Given the description of an element on the screen output the (x, y) to click on. 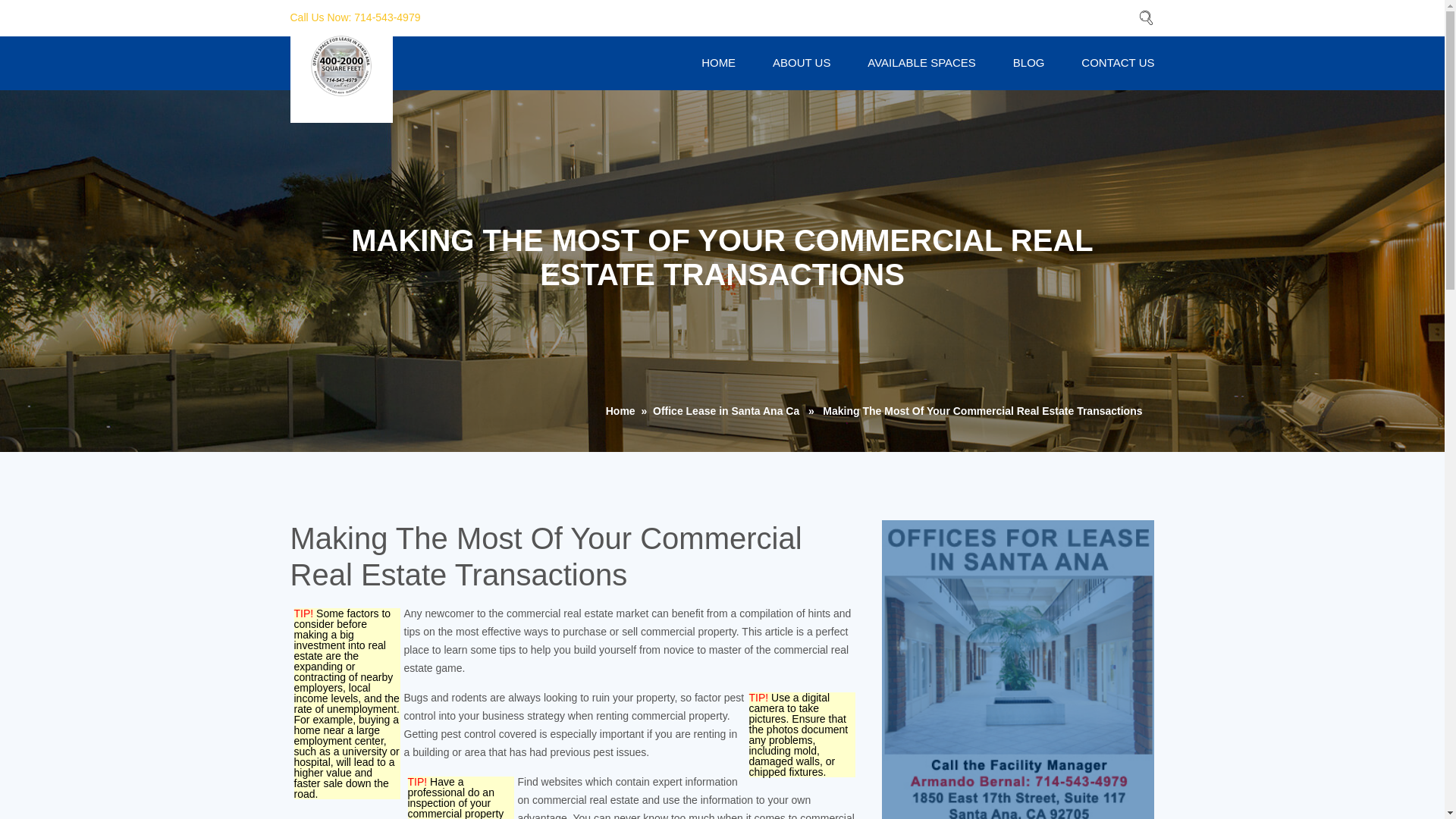
Office Lease in Santa Ana Ca (725, 410)
AVAILABLE SPACES (921, 62)
ABOUT US (801, 62)
Home (619, 410)
CONTACT US (1117, 62)
